Given the description of an element on the screen output the (x, y) to click on. 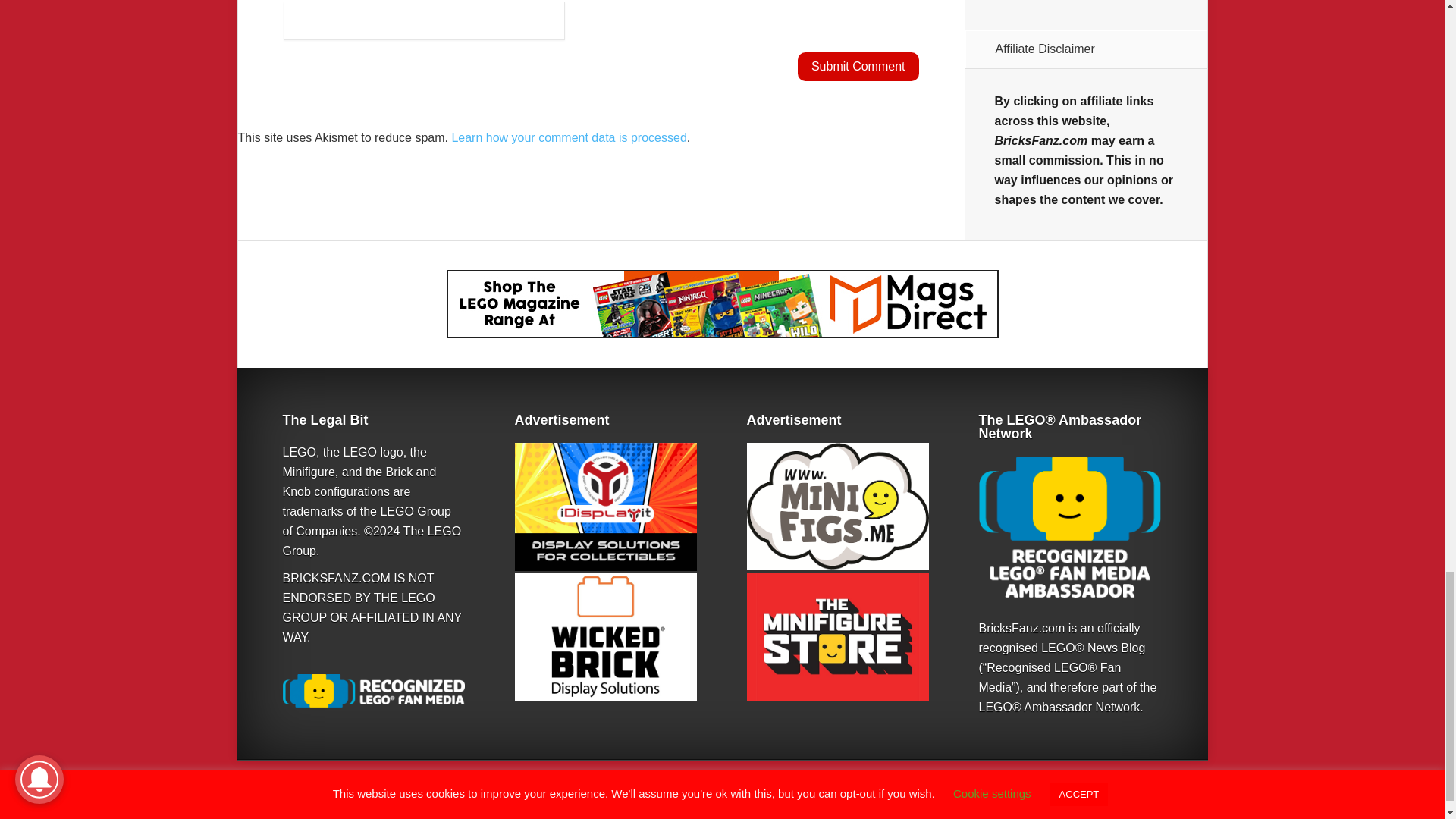
Premium WordPress Themes (1020, 800)
Submit Comment (857, 66)
advertisement (1069, 526)
advertisement (604, 506)
advertisement (836, 636)
advertisement (836, 506)
advertisement (604, 637)
Learn how your comment data is processed (568, 137)
Submit Comment (857, 66)
